Given the description of an element on the screen output the (x, y) to click on. 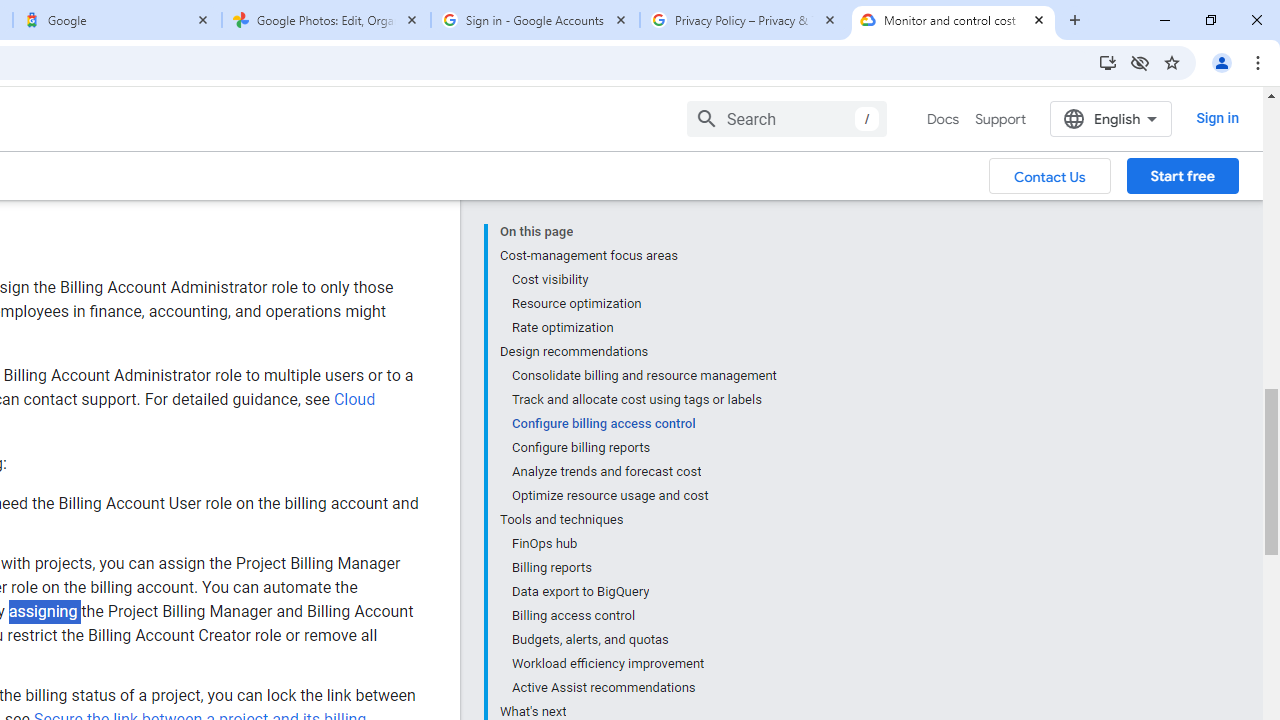
English (1110, 31)
Tools and techniques (637, 432)
FinOps hub (643, 456)
Budgets, alerts, and quotas (643, 552)
What's next (637, 622)
Configure billing reports (643, 360)
Optimize resource usage and cost (643, 408)
Install Google Cloud (1107, 62)
Cost visibility (643, 192)
Analyze trends and forecast cost (643, 384)
